Given the description of an element on the screen output the (x, y) to click on. 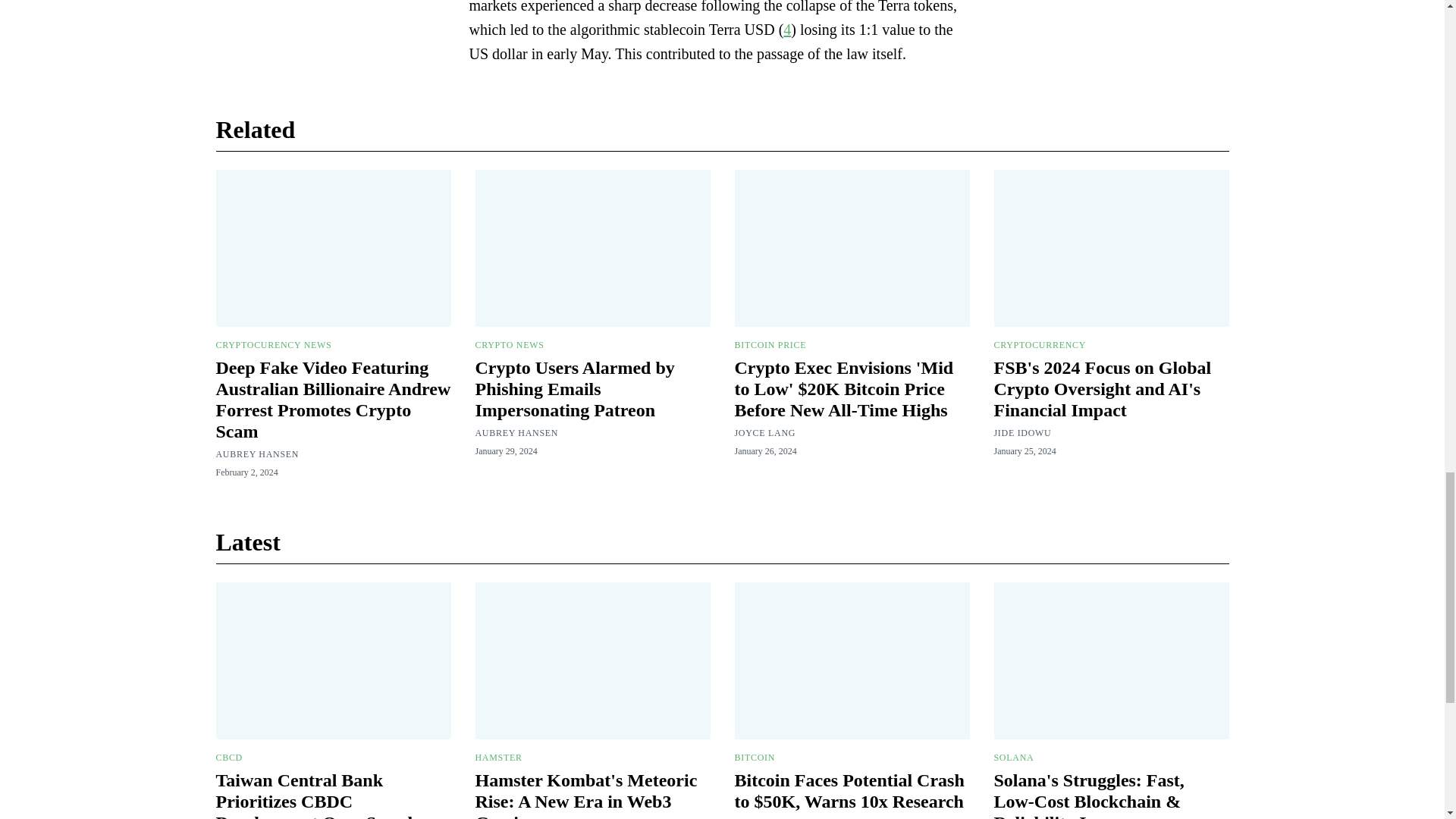
BITCOIN PRICE (769, 344)
AUBREY HANSEN (256, 453)
AUBREY HANSEN (515, 432)
CRYPTOCURENCY NEWS (273, 344)
CRYPTO NEWS (508, 344)
JOYCE LANG (763, 432)
